Given the description of an element on the screen output the (x, y) to click on. 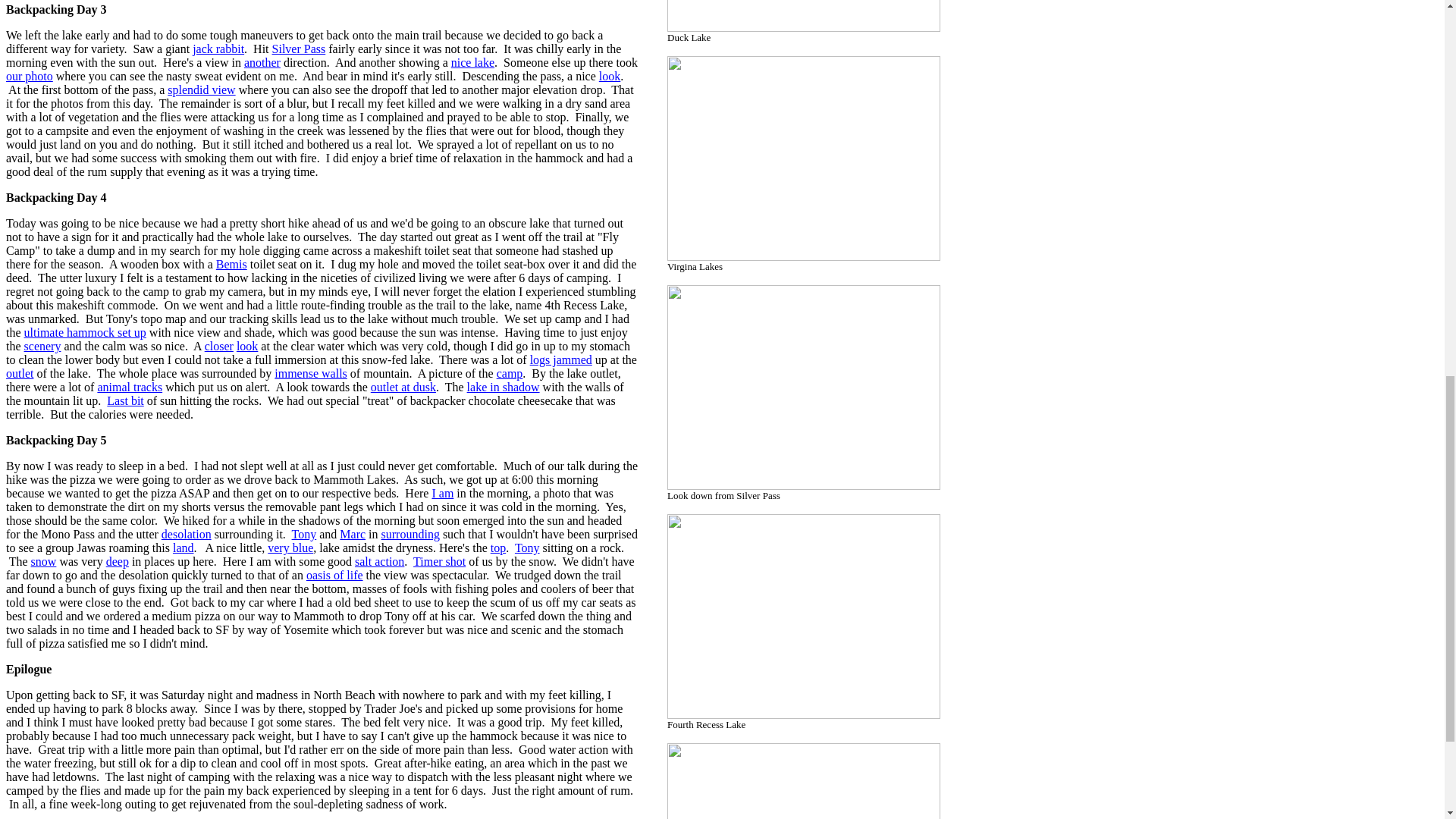
Silver Pass (299, 48)
jack rabbit (218, 48)
nice lake (473, 62)
another (262, 62)
our photo (28, 75)
